Given the description of an element on the screen output the (x, y) to click on. 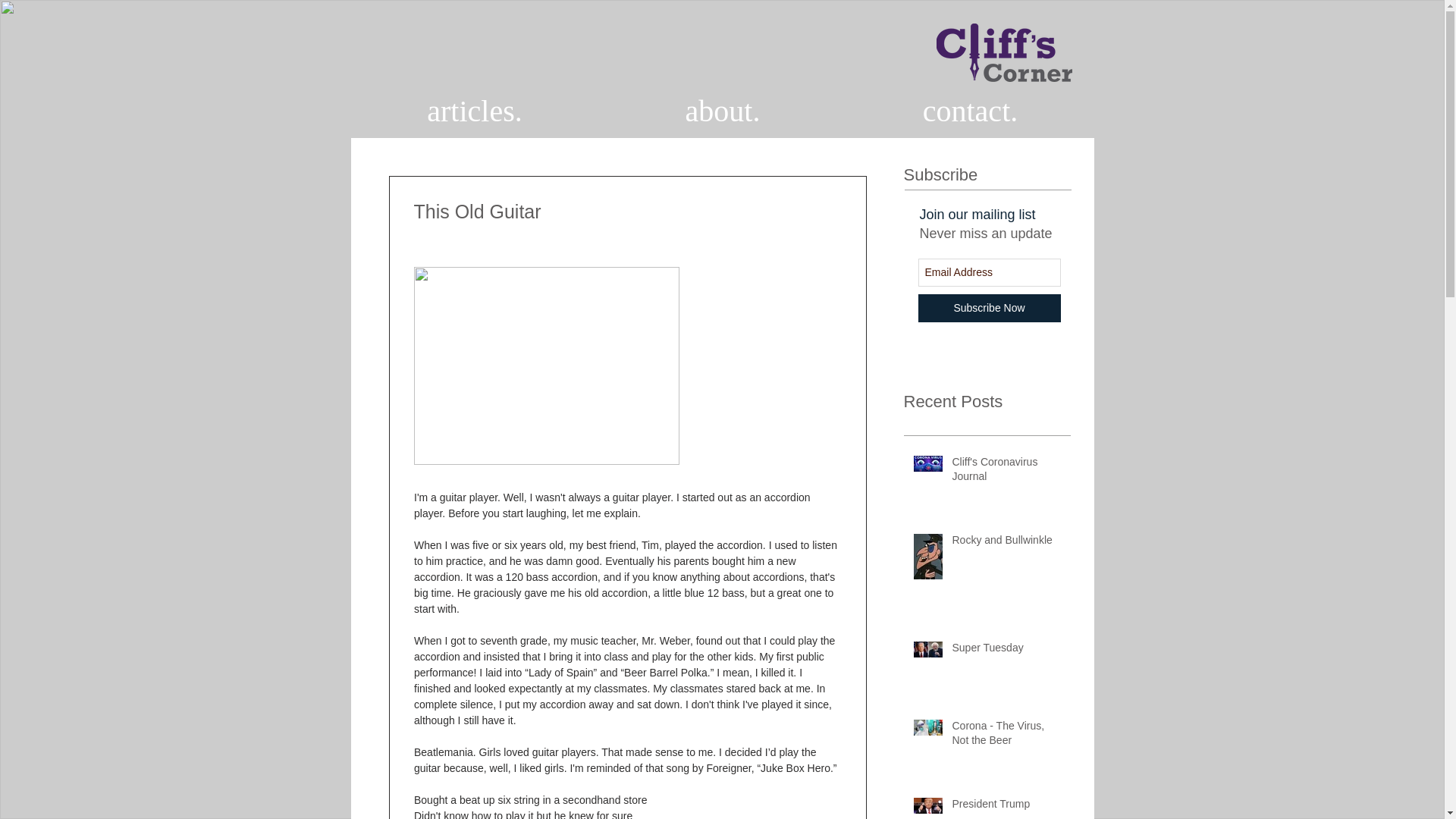
articles. (474, 110)
Super Tuesday (1006, 650)
about. (722, 110)
President Trump (1006, 807)
Corona - The Virus, Not the Beer (1006, 736)
Subscribe Now (988, 308)
Rocky and Bullwinkle (1006, 543)
contact. (969, 110)
Cliff's Coronavirus Journal (1006, 472)
